Given the description of an element on the screen output the (x, y) to click on. 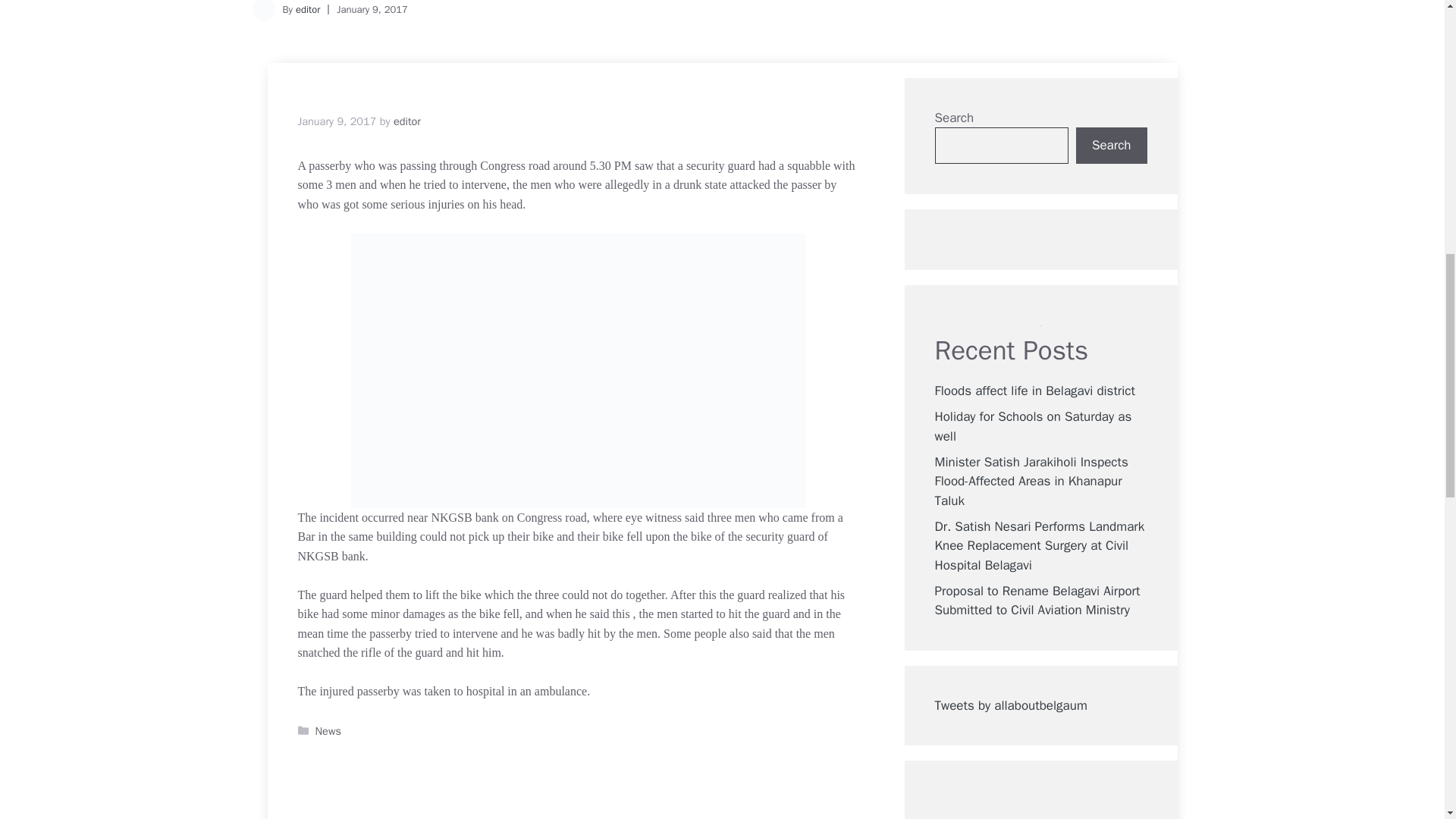
Tweets by allaboutbelgaum (1010, 705)
View all posts by editor (406, 120)
editor (307, 9)
Floods affect life in Belagavi district (1034, 390)
News (327, 730)
Search (1111, 145)
editor (406, 120)
Holiday for Schools on Saturday as well (1032, 426)
